Given the description of an element on the screen output the (x, y) to click on. 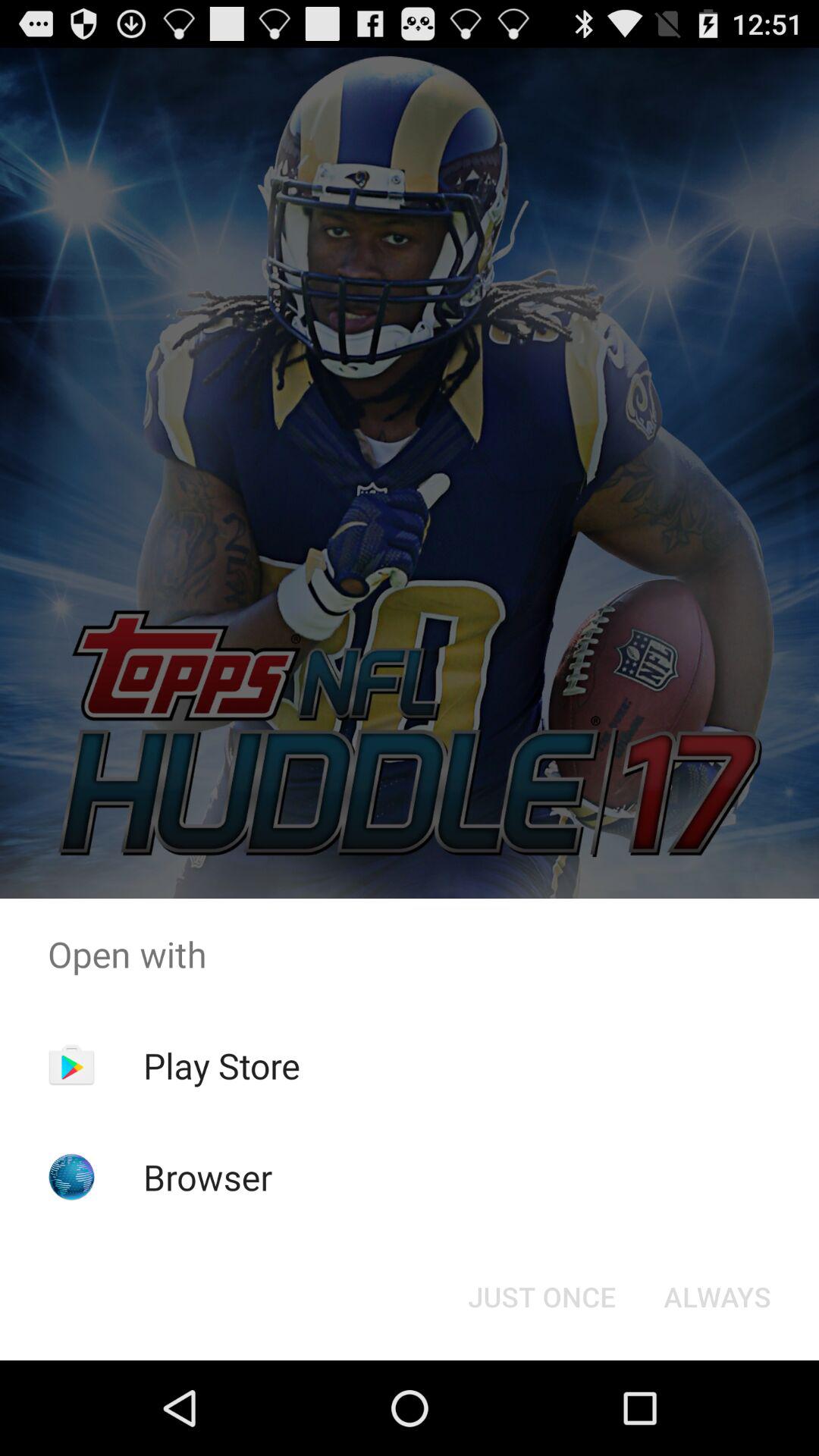
launch the item to the left of the always item (541, 1296)
